Given the description of an element on the screen output the (x, y) to click on. 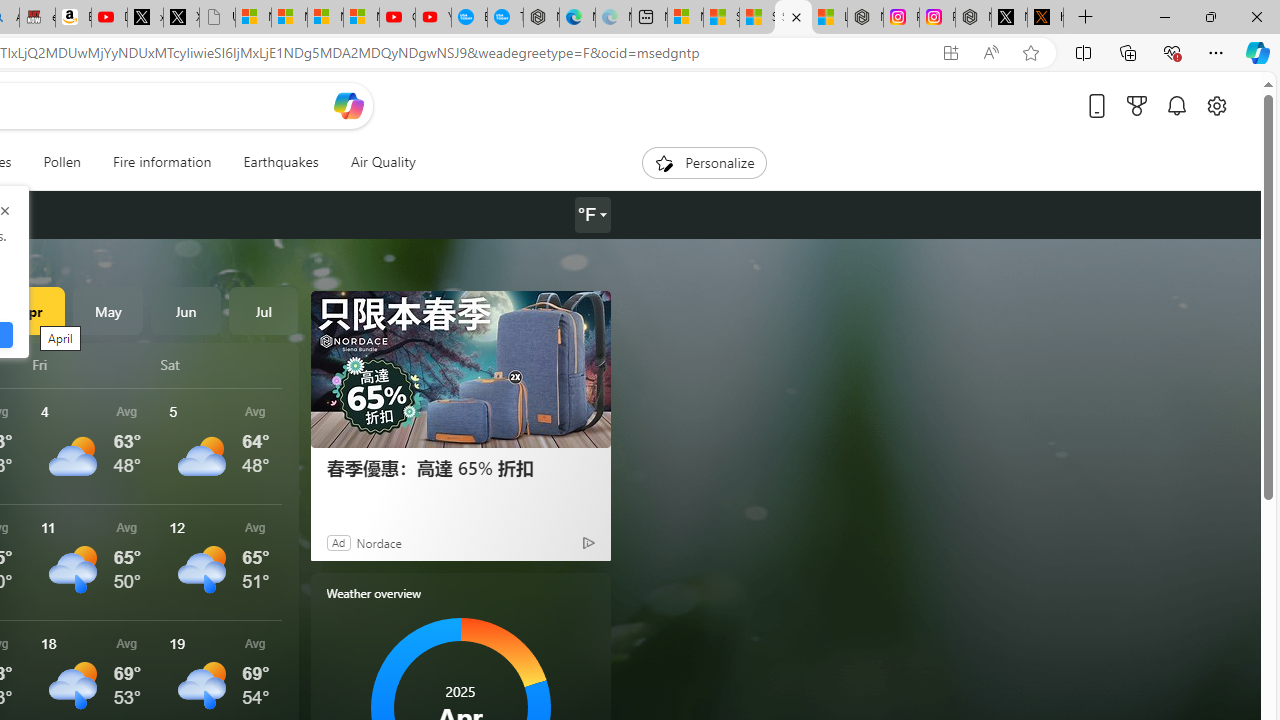
Pollen (61, 162)
Jul (263, 310)
Untitled (217, 17)
Nordace - Summer Adventures 2024 (973, 17)
App available. Install Microsoft Start Weather (950, 53)
Open settings (1216, 105)
Microsoft account | Microsoft Account Privacy Settings (685, 17)
Jul (263, 310)
Shanghai, China hourly forecast | Microsoft Weather (756, 17)
